Given the description of an element on the screen output the (x, y) to click on. 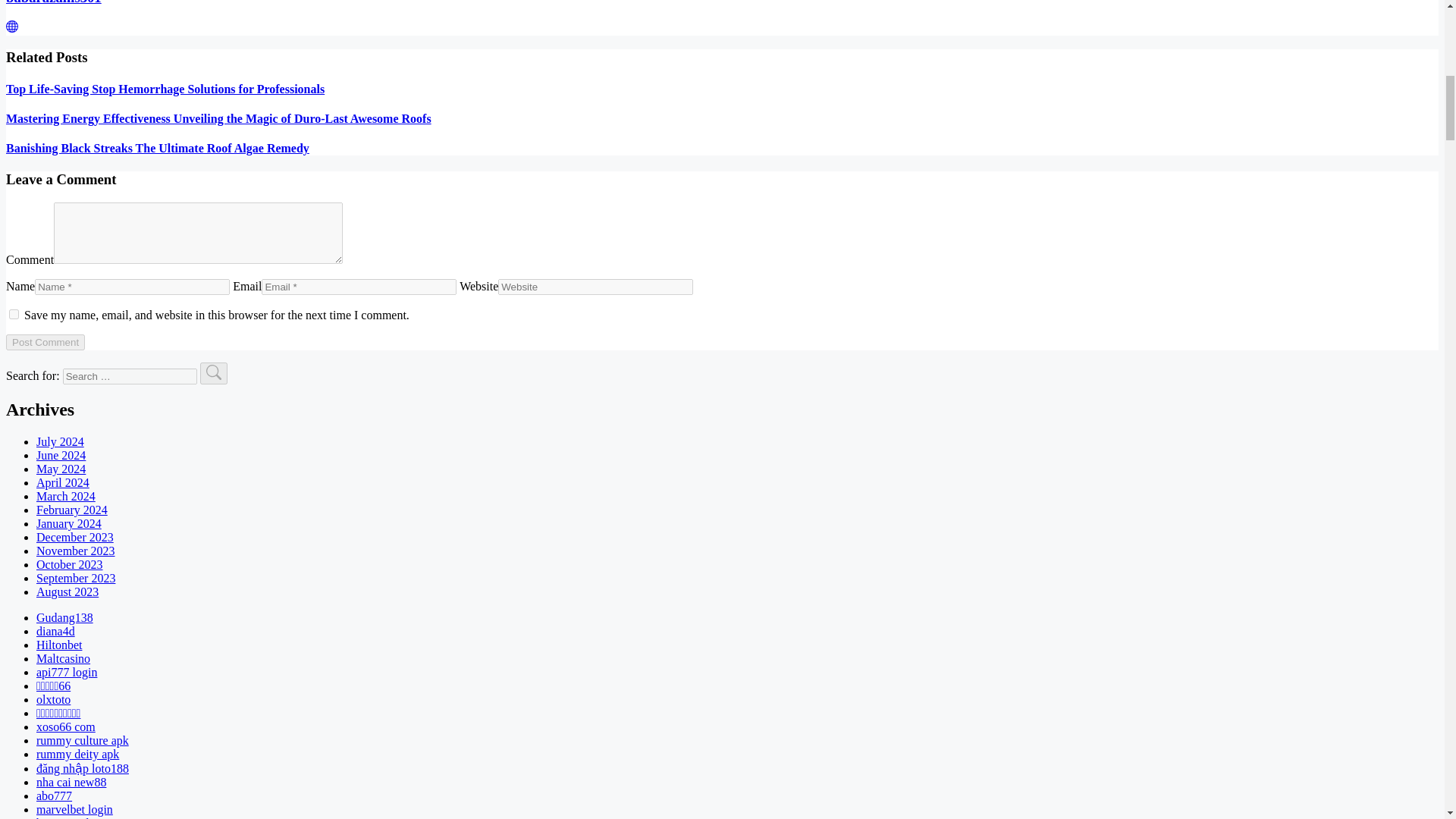
Maltcasino (63, 658)
Search for: (129, 376)
Banishing Black Streaks The Ultimate Roof Algae Remedy (156, 147)
yes (13, 314)
Post Comment (44, 342)
olxtoto (52, 698)
xoso66 com (66, 726)
February 2024 (71, 509)
July 2024 (60, 440)
rummy culture apk (82, 739)
Top Life-Saving Stop Hemorrhage Solutions for Professionals (164, 88)
Hiltonbet (58, 644)
September 2023 (75, 577)
November 2023 (75, 550)
